Given the description of an element on the screen output the (x, y) to click on. 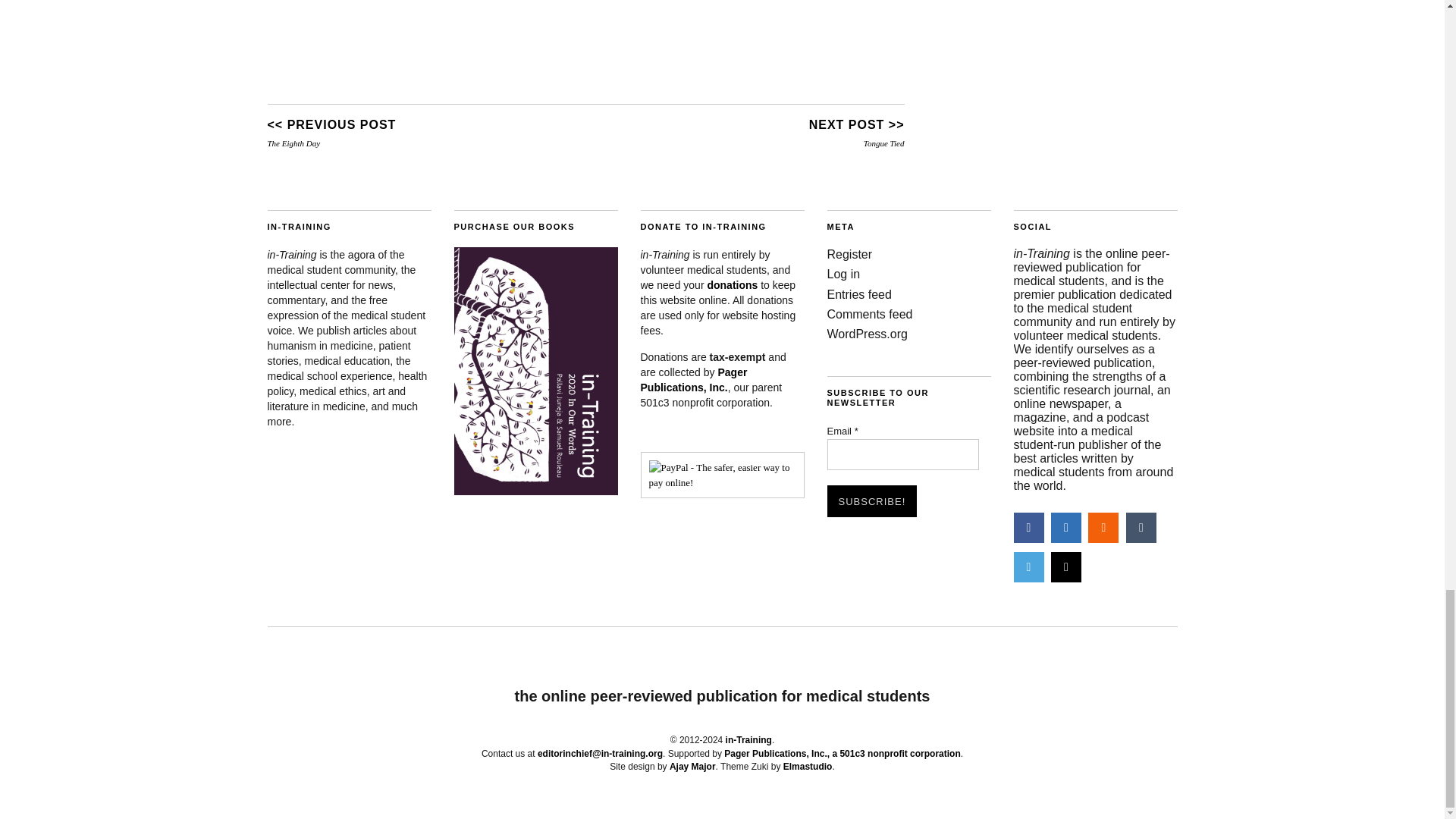
Twitter (1028, 567)
Subscribe! (872, 500)
Email (902, 454)
RSS (1102, 527)
Facebook (1028, 527)
Linkedin (1066, 527)
tumblr (1140, 527)
